Given the description of an element on the screen output the (x, y) to click on. 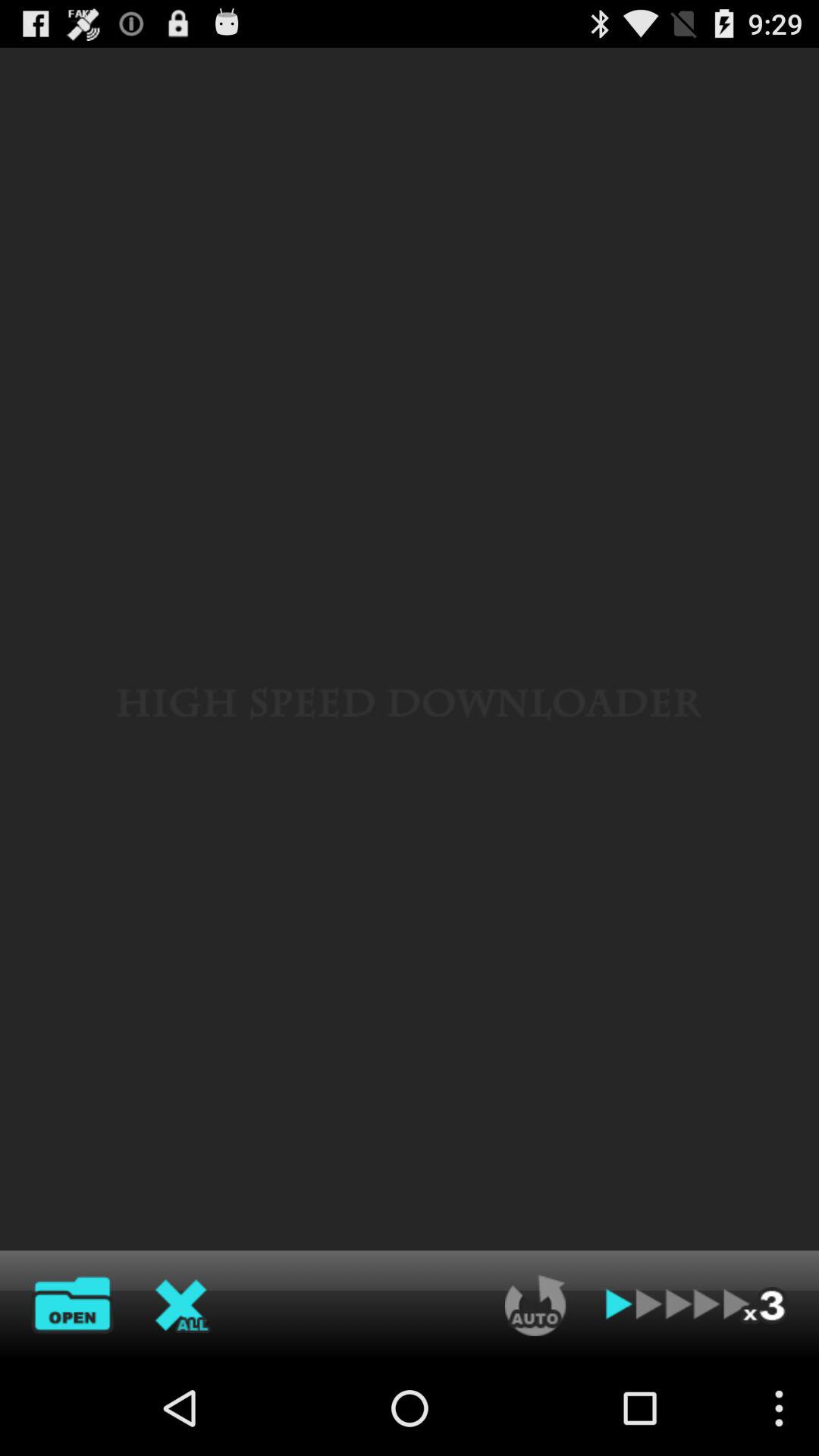
close all the content (182, 1305)
